Given the description of an element on the screen output the (x, y) to click on. 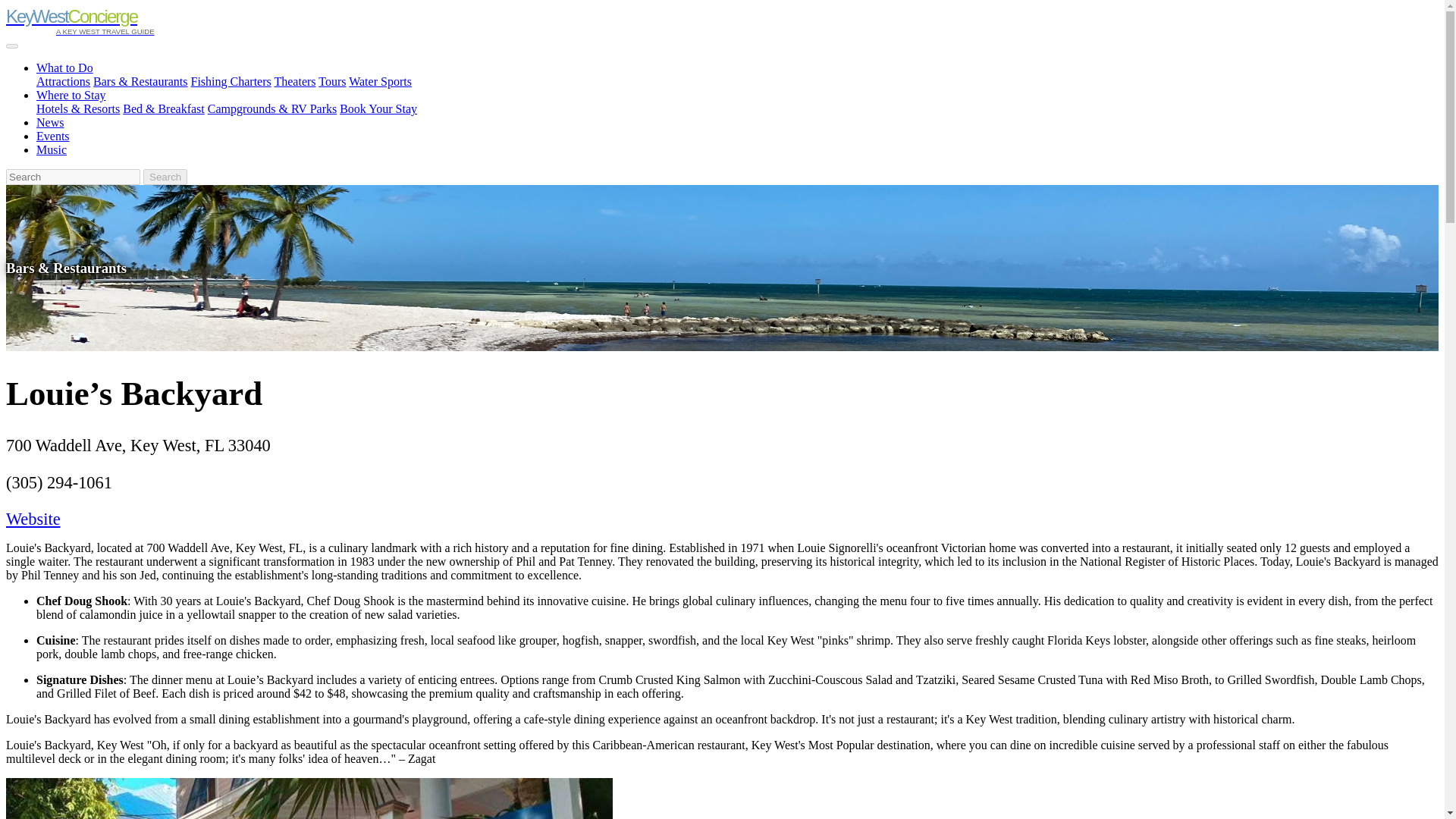
Tours (332, 81)
Theaters (294, 81)
Where to Stay (71, 94)
Water Sports (380, 81)
Attractions (63, 81)
Events (52, 135)
Music (51, 149)
What to Do (64, 67)
Fishing Charters (230, 81)
Website (33, 518)
Website (33, 518)
News (50, 122)
Search (164, 176)
Book Your Stay (377, 108)
